Given the description of an element on the screen output the (x, y) to click on. 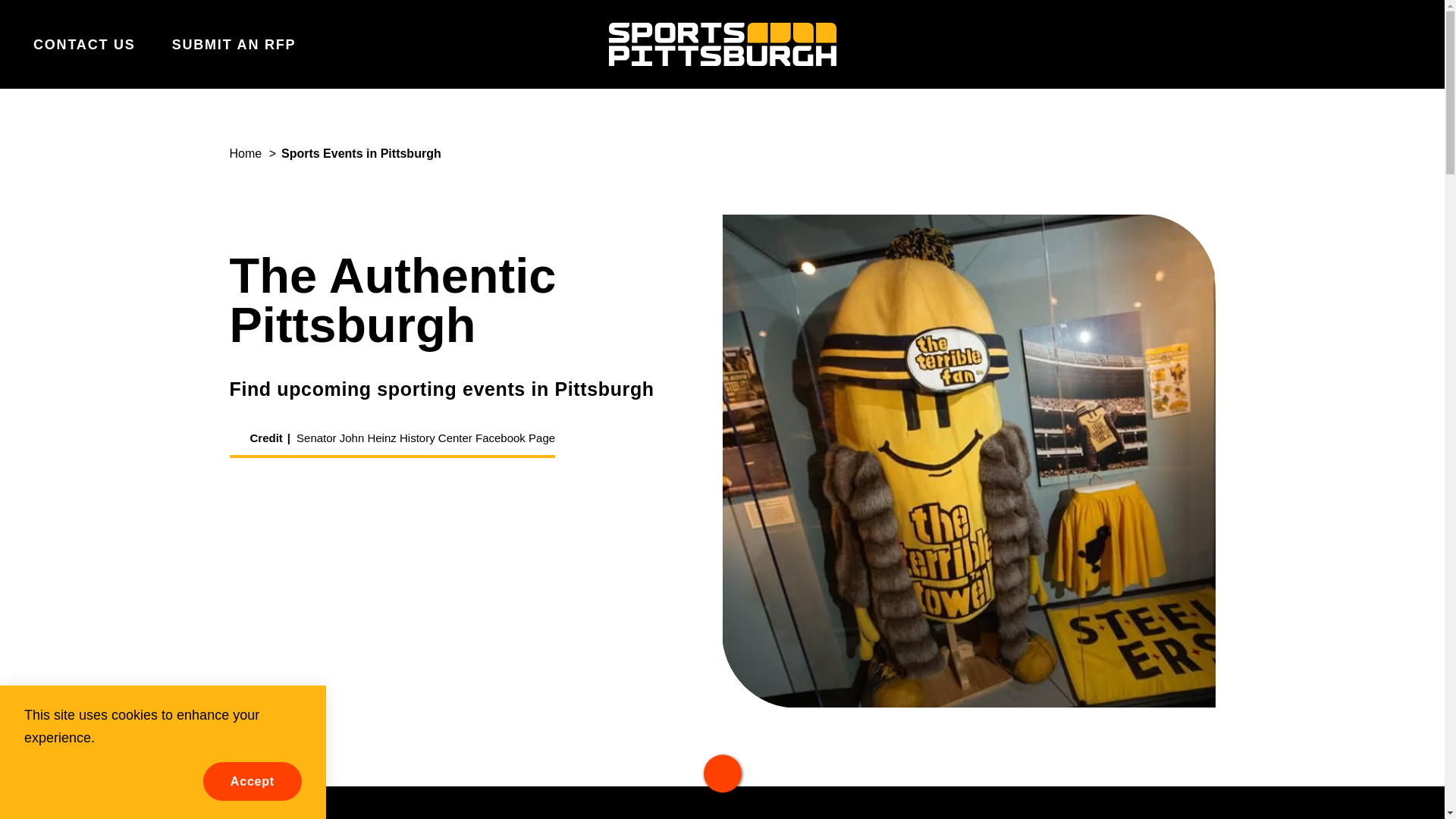
Skip to content (17, 15)
SUBMIT AN RFP (234, 43)
Home (244, 153)
CONTACT US (84, 43)
Accept (252, 781)
